Given the description of an element on the screen output the (x, y) to click on. 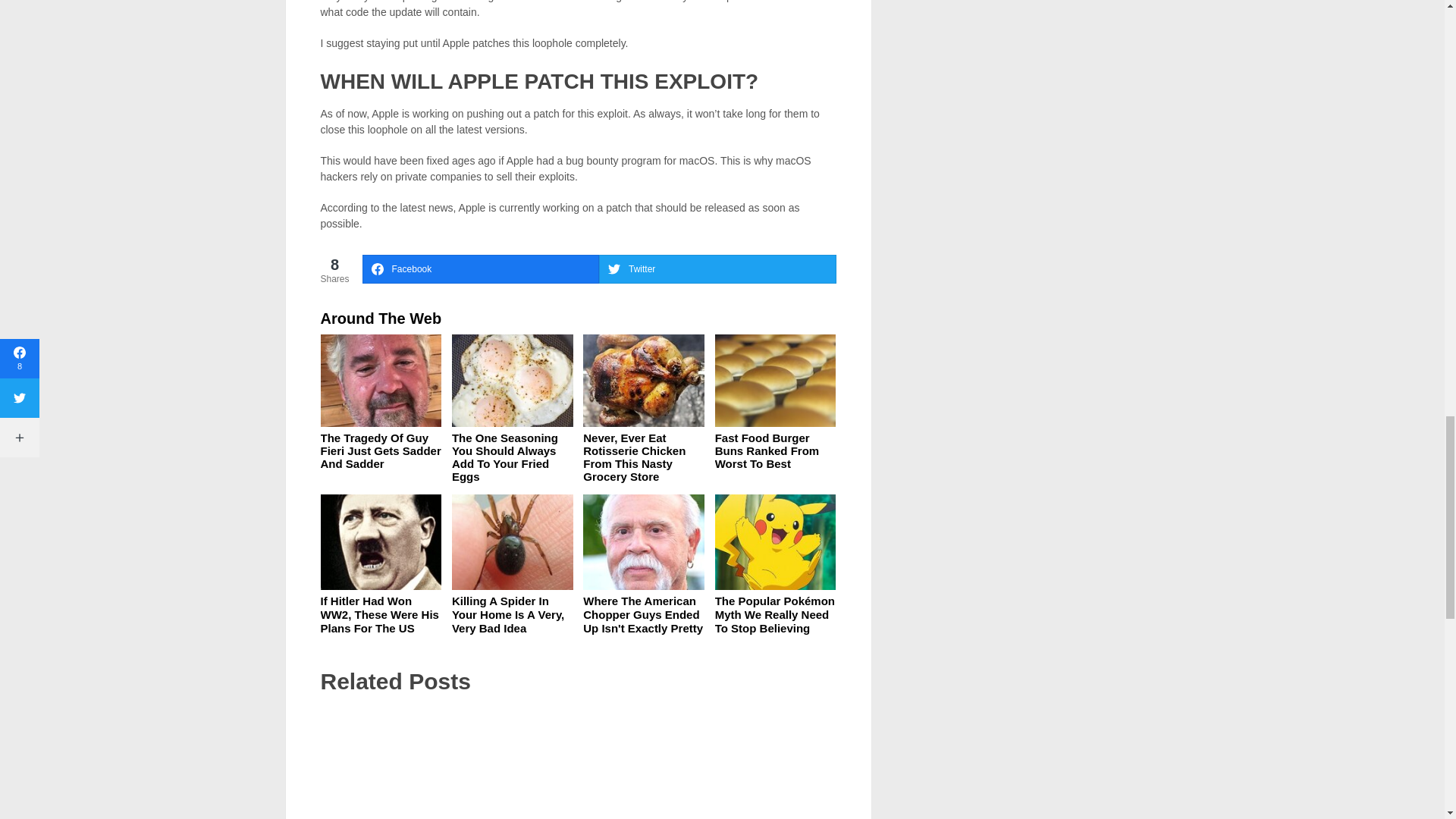
Apple Finally Releases iOS 10.3.2, Pangu Jailbreak Incoming (400, 762)
Twitter (716, 268)
The Tragedy Of Guy Fieri Just Gets Sadder And Sadder (380, 450)
Facebook (480, 268)
Fast Food Burger Buns Ranked From Worst To Best (766, 450)
Everything you need to know about AirPlay 2 (577, 762)
The One Seasoning You Should Always Add To Your Fried Eggs (504, 457)
Download iOS 12 Developer Beta 1 without developer account (756, 762)
